Given the description of an element on the screen output the (x, y) to click on. 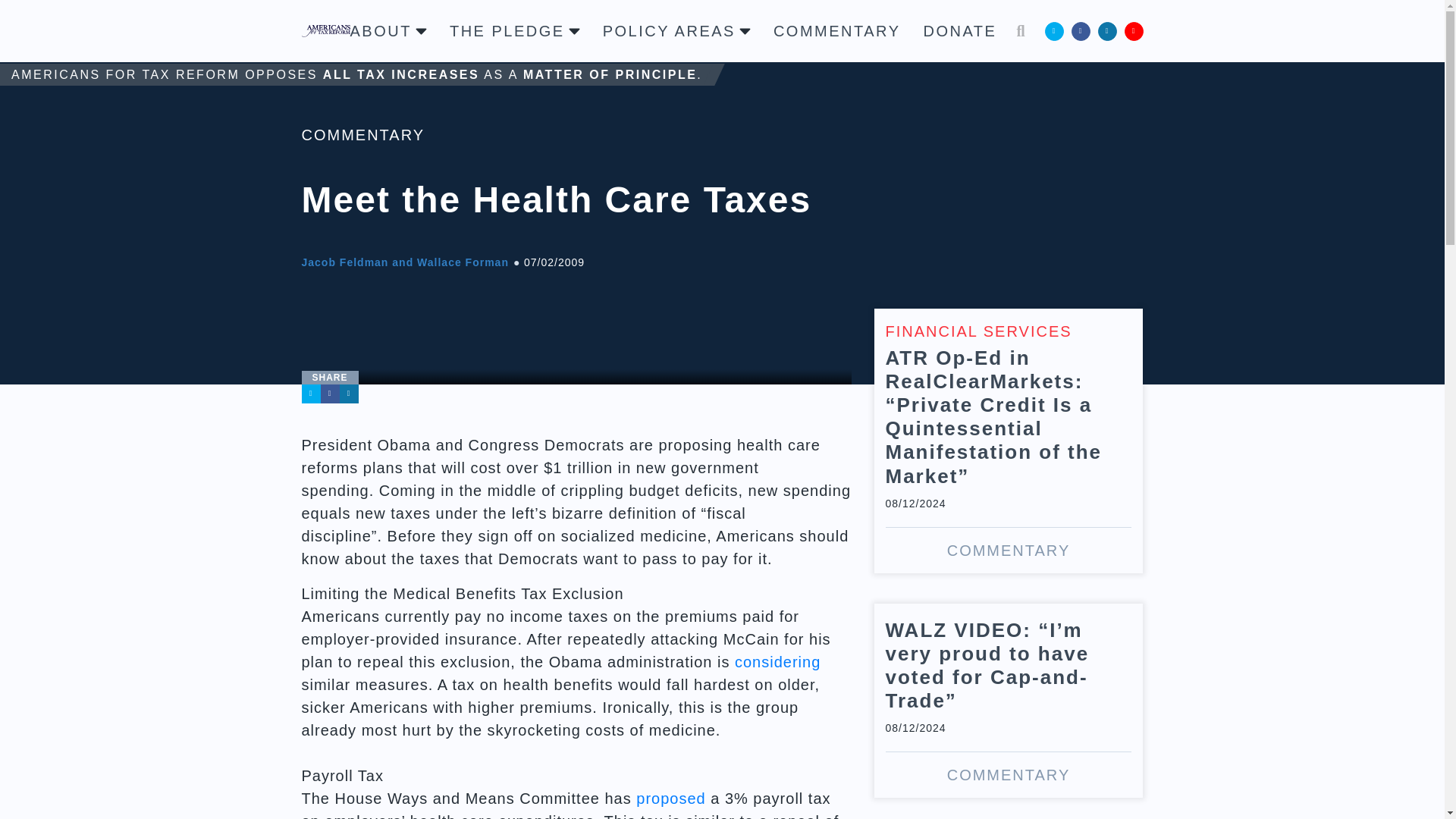
Twitter (1054, 30)
COMMENTARY (363, 134)
Twitter (310, 393)
ABOUT (388, 30)
proposed (670, 798)
DONATE (960, 30)
Jacob Feldman (344, 262)
considering (778, 661)
Facebook (1079, 30)
COMMENTARY (837, 30)
